Given the description of an element on the screen output the (x, y) to click on. 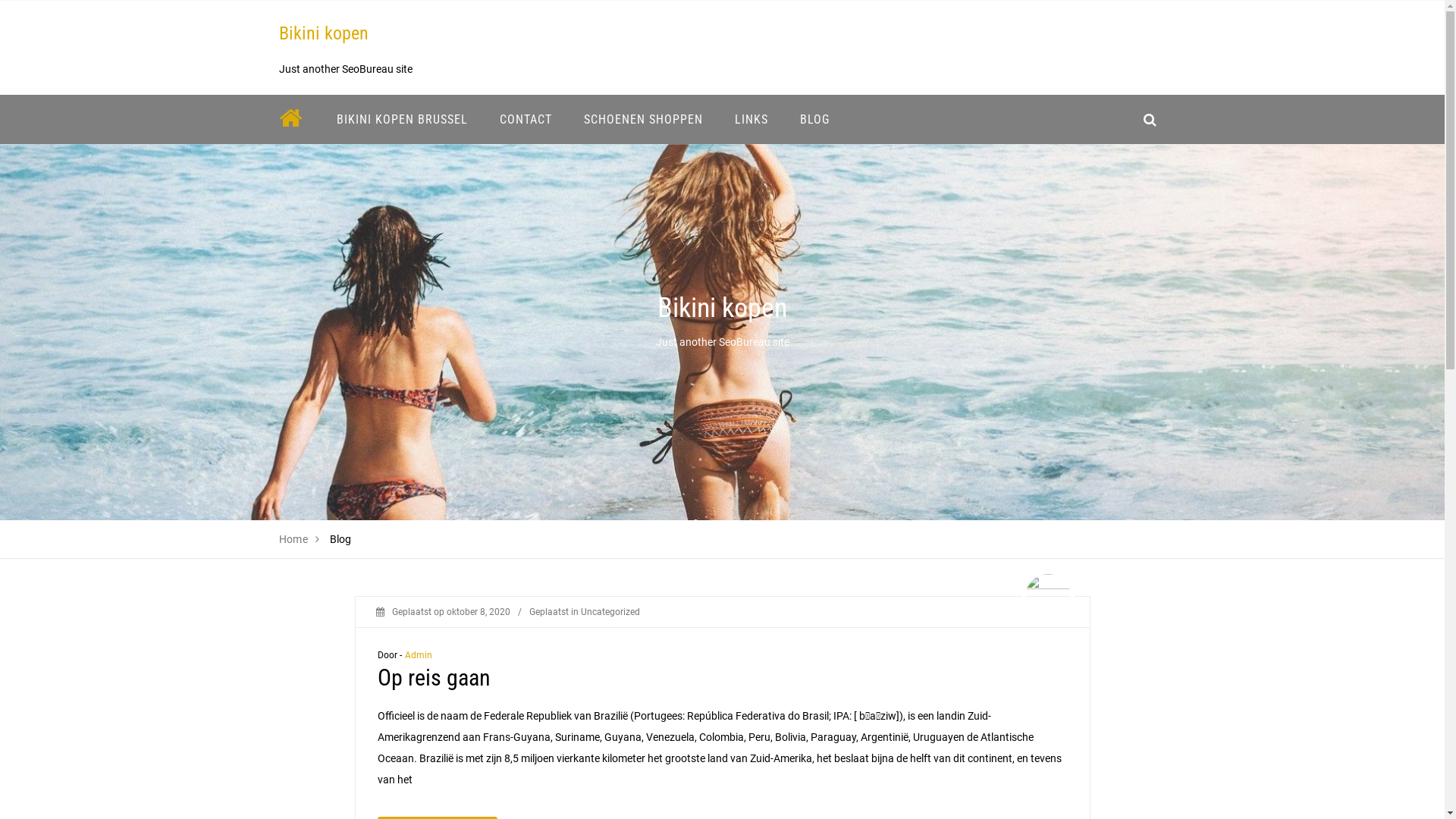
CONTACT Element type: text (525, 119)
BLOG Element type: text (814, 119)
Op reis gaan Element type: text (433, 677)
search_icon Element type: hover (1148, 119)
Bikini kopen Element type: text (323, 32)
BIKINI KOPEN BRUSSEL Element type: text (401, 119)
Uncategorized Element type: text (610, 611)
Home Element type: text (293, 539)
Admin Element type: text (418, 654)
LINKS Element type: text (751, 119)
SCHOENEN SHOPPEN Element type: text (642, 119)
